Given the description of an element on the screen output the (x, y) to click on. 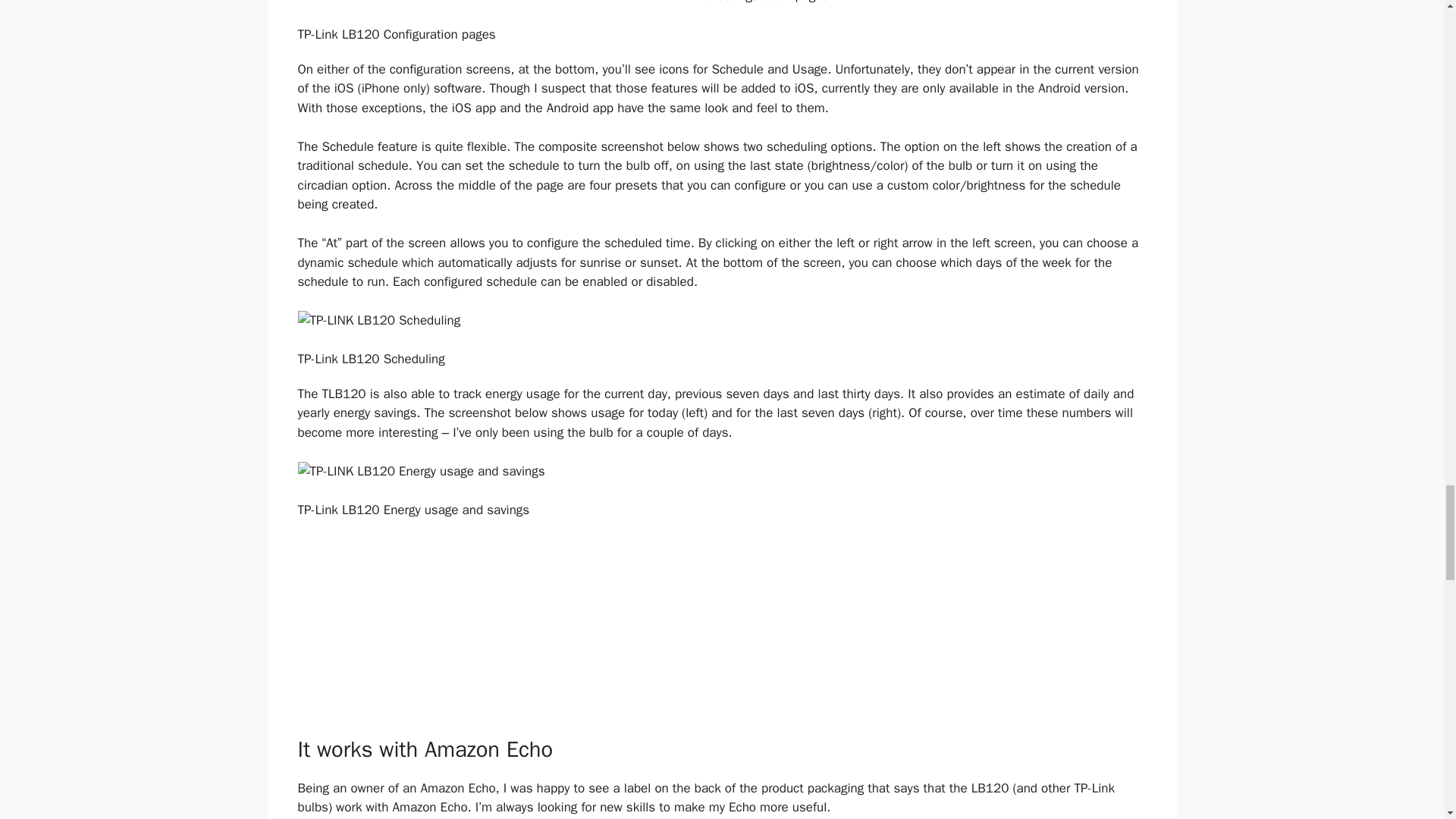
TP-LINK LB120 Scheduling (722, 320)
TP-LINK LB120 Energy usage and savings (722, 471)
